Given the description of an element on the screen output the (x, y) to click on. 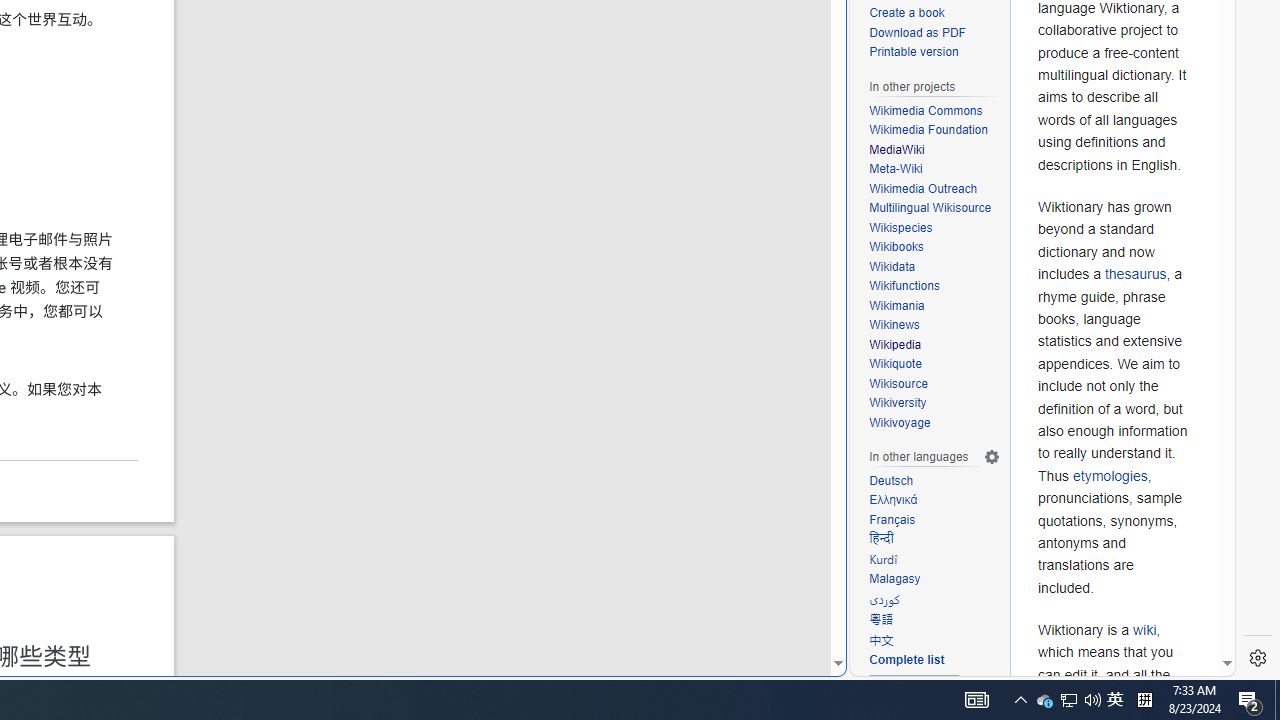
Wikimania (897, 305)
Wikidata (934, 267)
Wikiversity (934, 403)
Download as PDF (934, 33)
Wikimedia Outreach (934, 189)
